Given the description of an element on the screen output the (x, y) to click on. 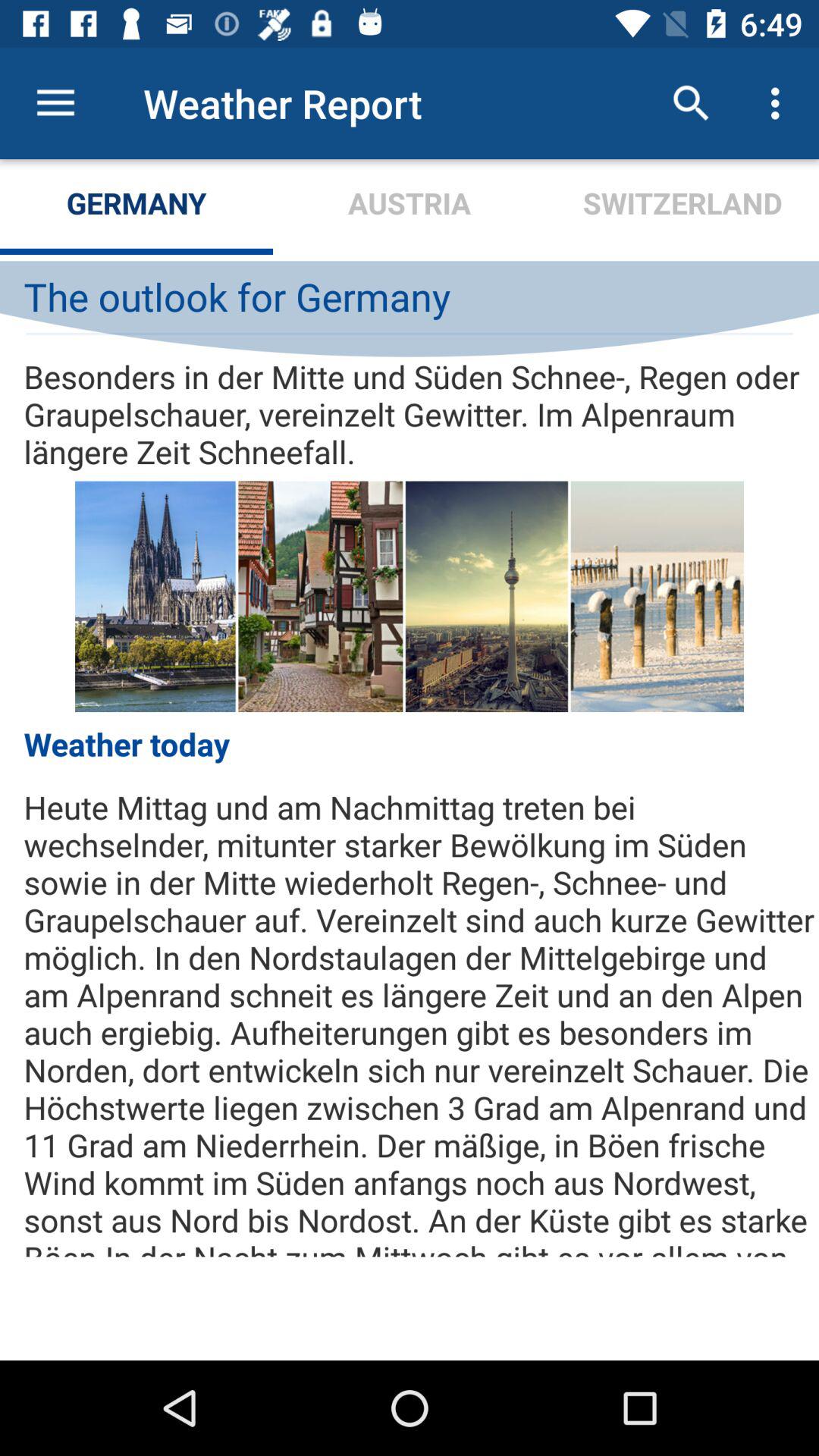
launch icon below the heute mittag und icon (409, 1310)
